Given the description of an element on the screen output the (x, y) to click on. 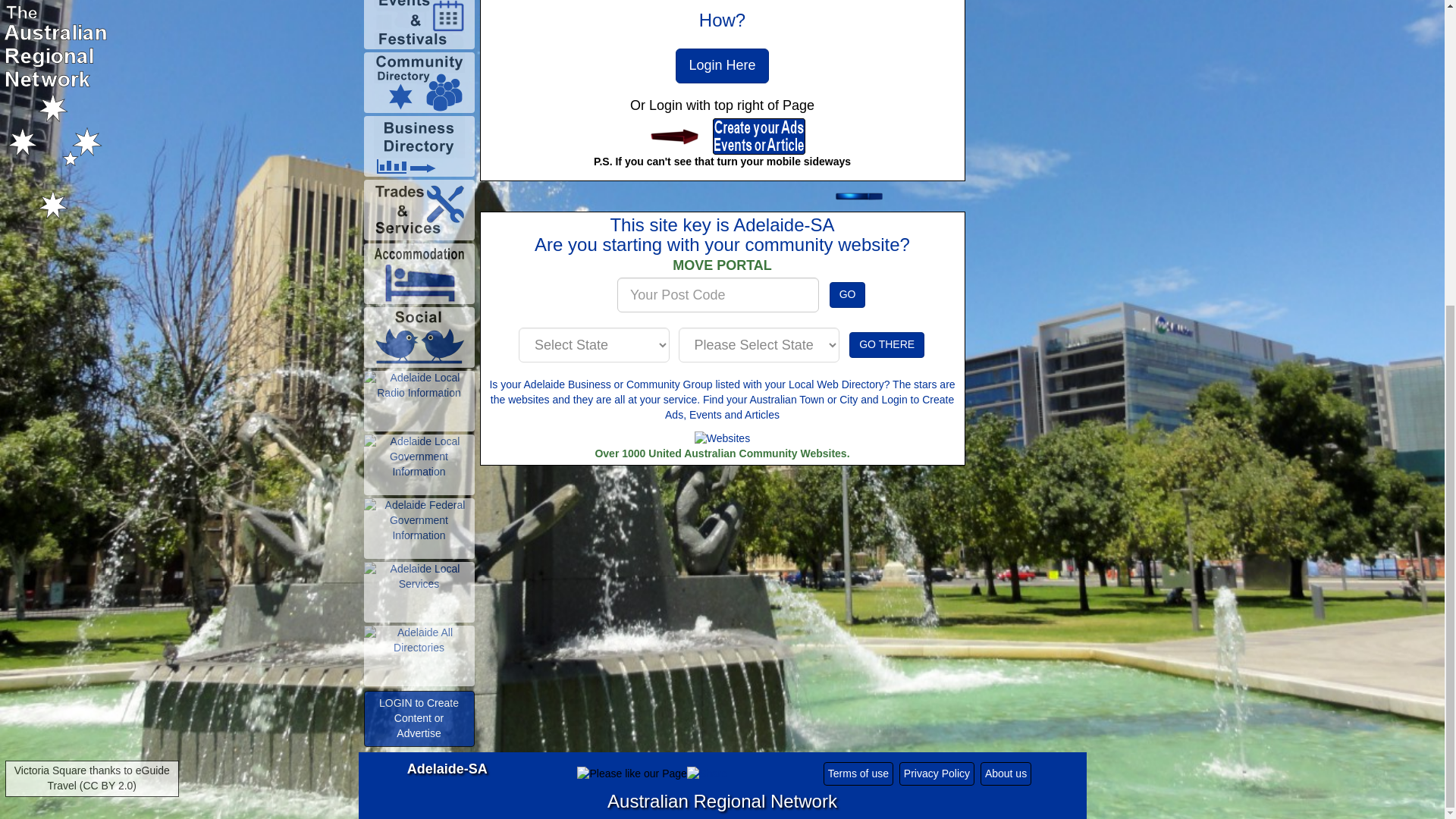
Click to Login to adelaide.city (676, 136)
Australian Regional Network Websites (721, 438)
GO THERE (886, 344)
Please like our Page (630, 774)
Please like our Page (861, 196)
